Given the description of an element on the screen output the (x, y) to click on. 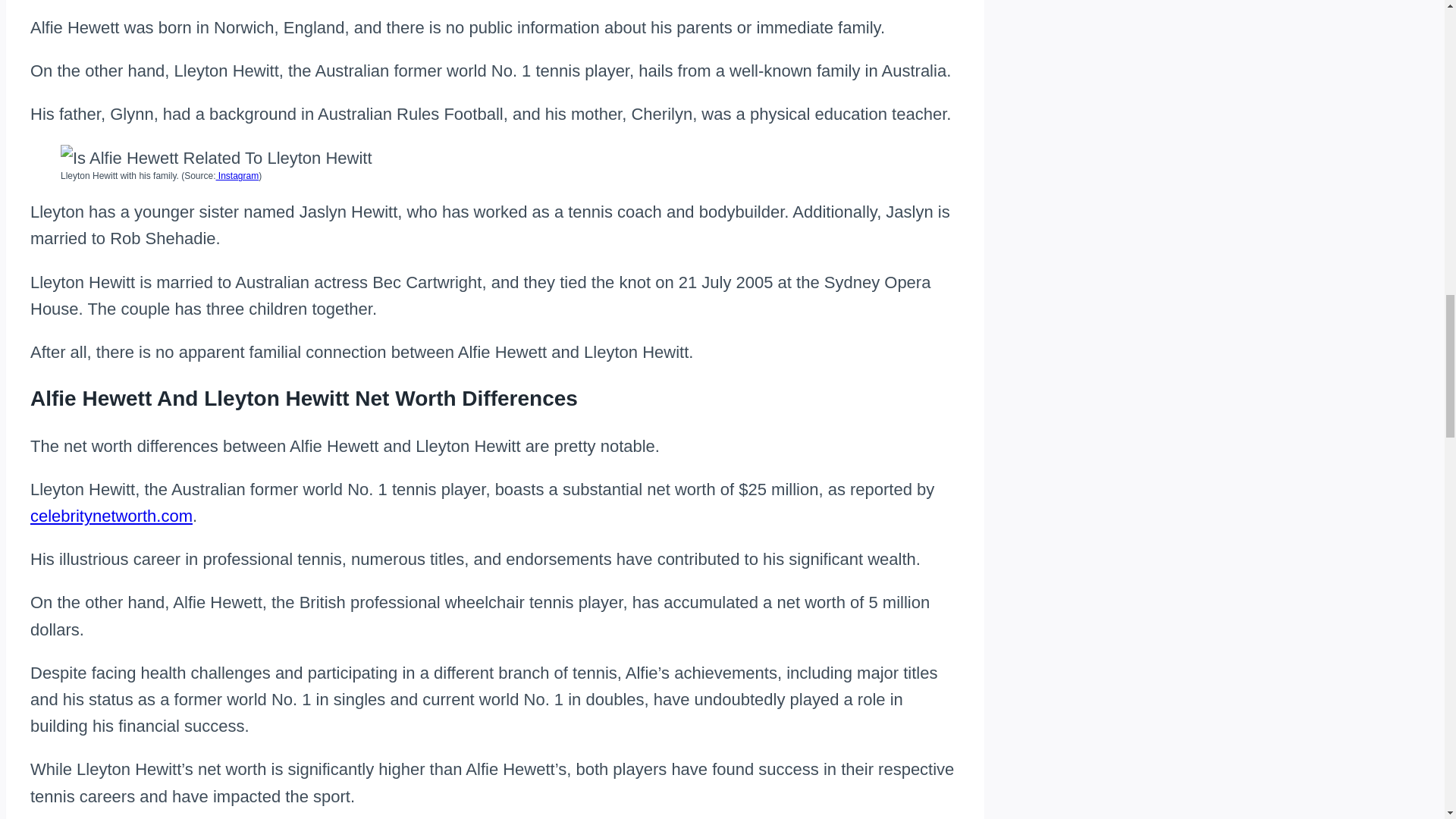
Instagram (237, 175)
celebritynetworth.com (111, 515)
